Given the description of an element on the screen output the (x, y) to click on. 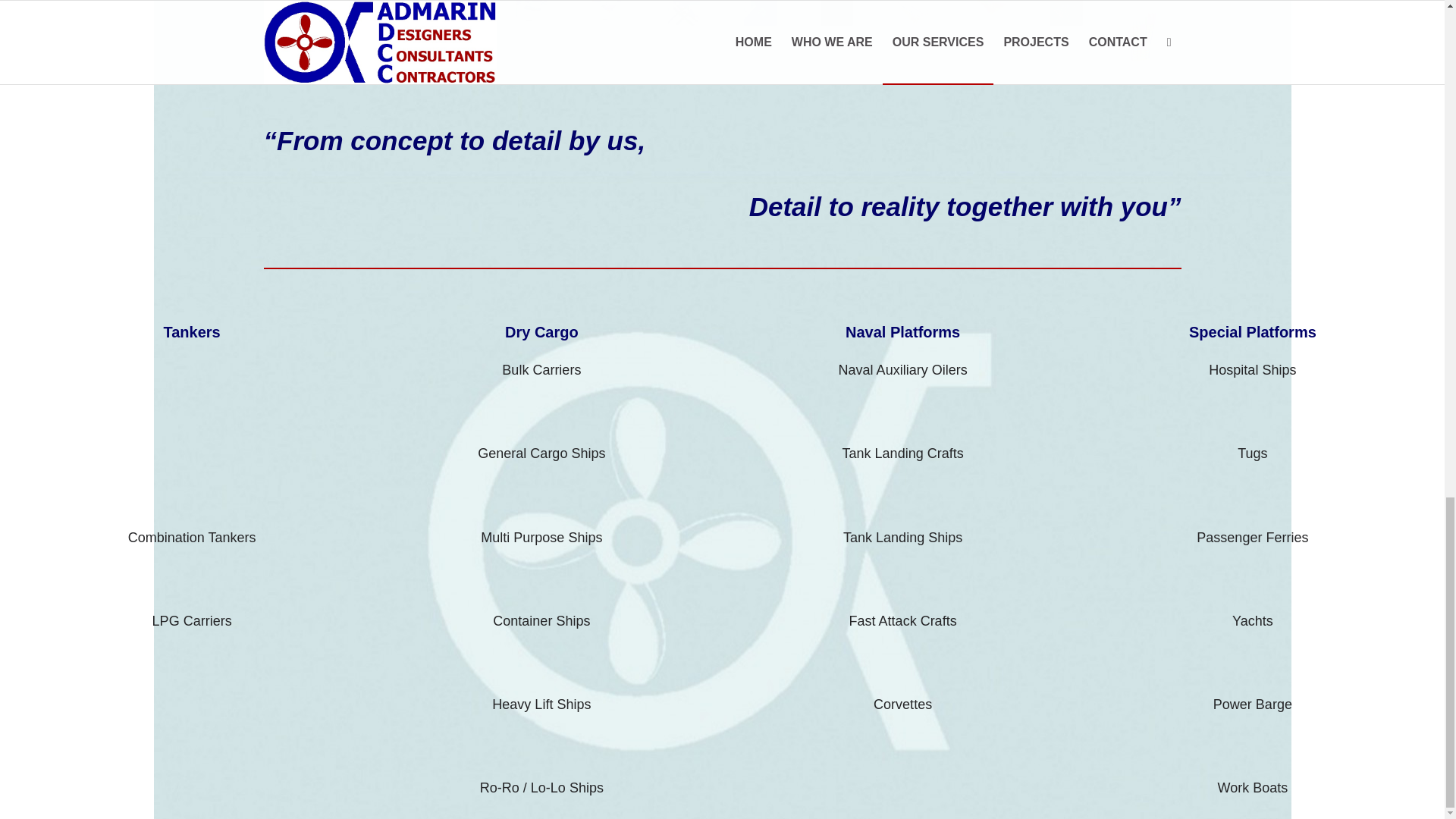
7 (703, 30)
6 (473, 26)
4 (626, 26)
5 (550, 28)
9 (320, 23)
13 (397, 30)
